Given the description of an element on the screen output the (x, y) to click on. 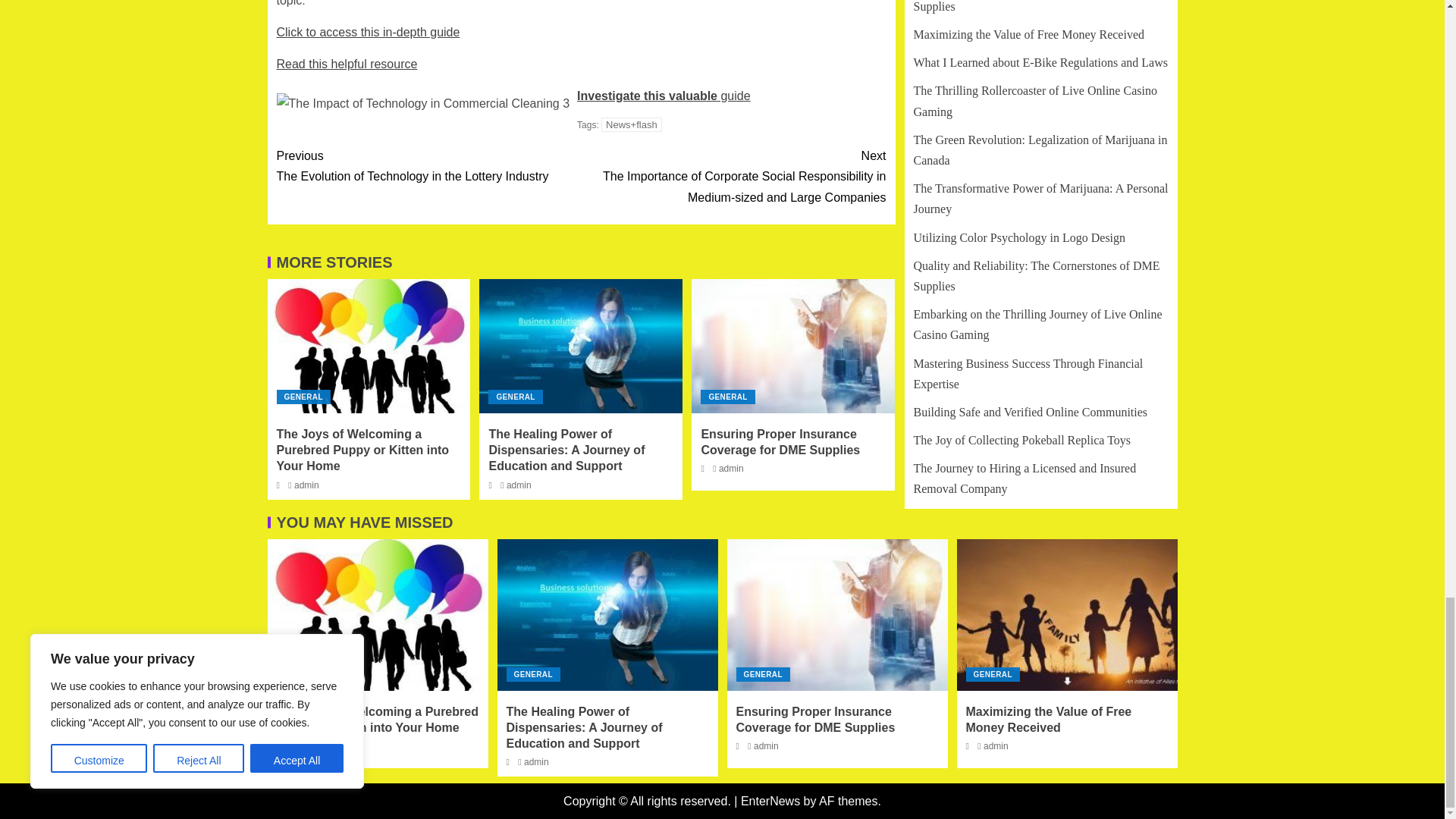
Click to access this in-depth guide (368, 31)
GENERAL (303, 396)
Investigate this valuable guide (663, 95)
Read this helpful resource (428, 165)
